Given the description of an element on the screen output the (x, y) to click on. 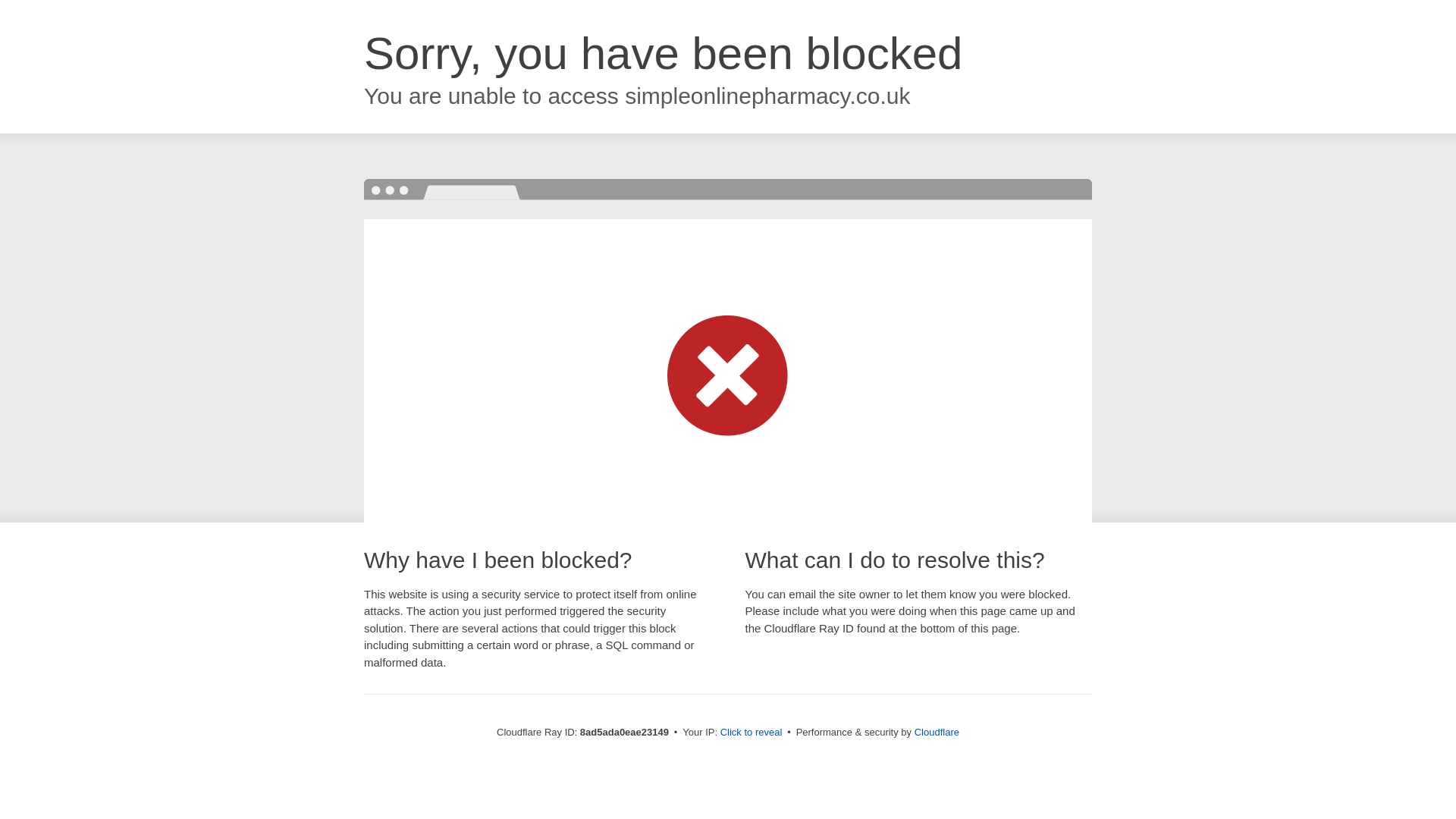
Cloudflare (936, 731)
Click to reveal (751, 732)
